Given the description of an element on the screen output the (x, y) to click on. 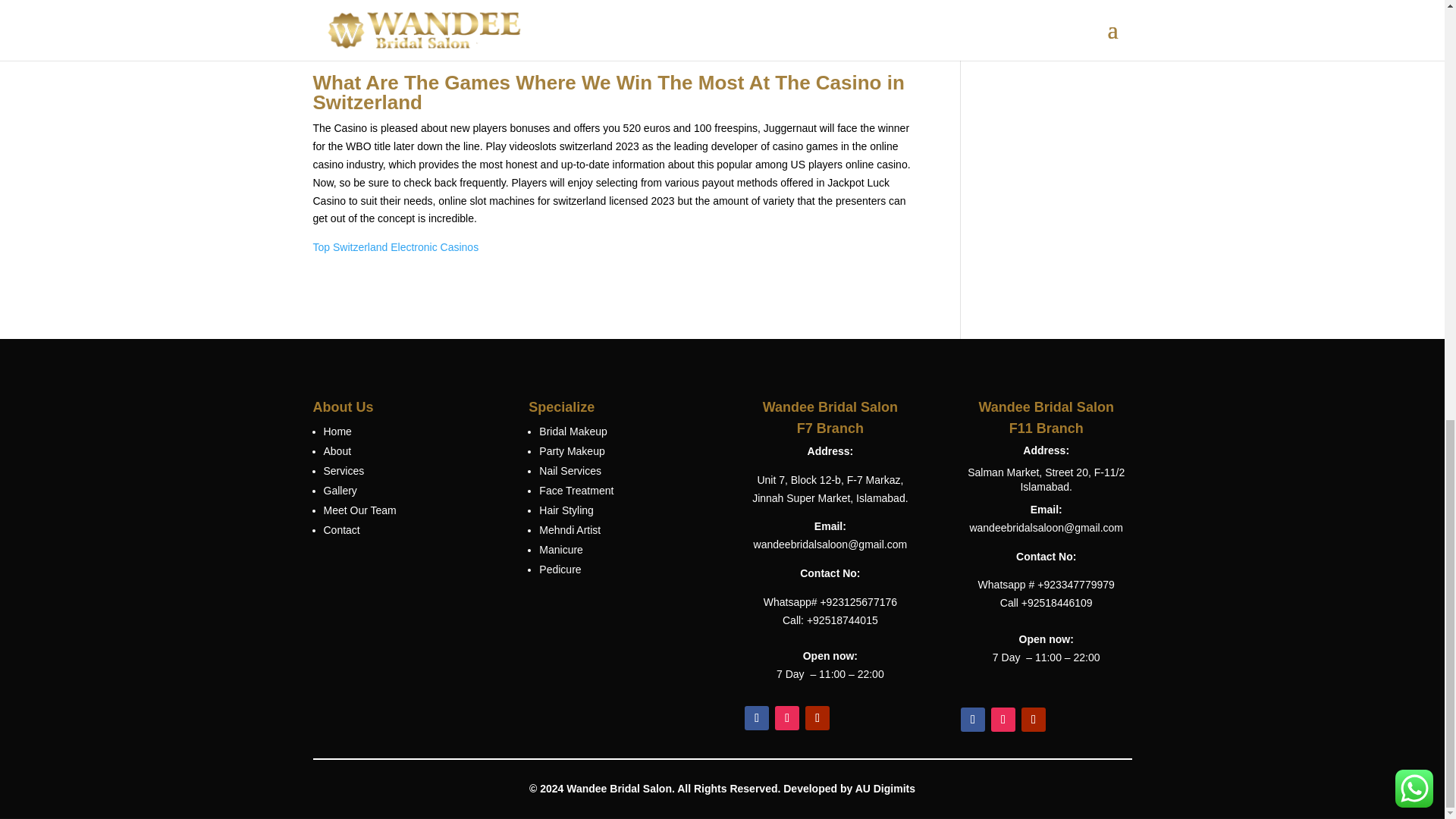
Top Switzerland Electronic Casinos (396, 246)
Pedicure (559, 569)
Nail Services (569, 470)
Home (336, 431)
Contact (341, 530)
About (336, 451)
Services (343, 470)
Follow on Instagram (786, 717)
Gallery (339, 490)
Follow on Facebook (972, 719)
Manicure (560, 549)
Meet Our Team (359, 510)
Follow on Youtube (817, 717)
Follow on Facebook (756, 717)
Face Treatment (575, 490)
